Given the description of an element on the screen output the (x, y) to click on. 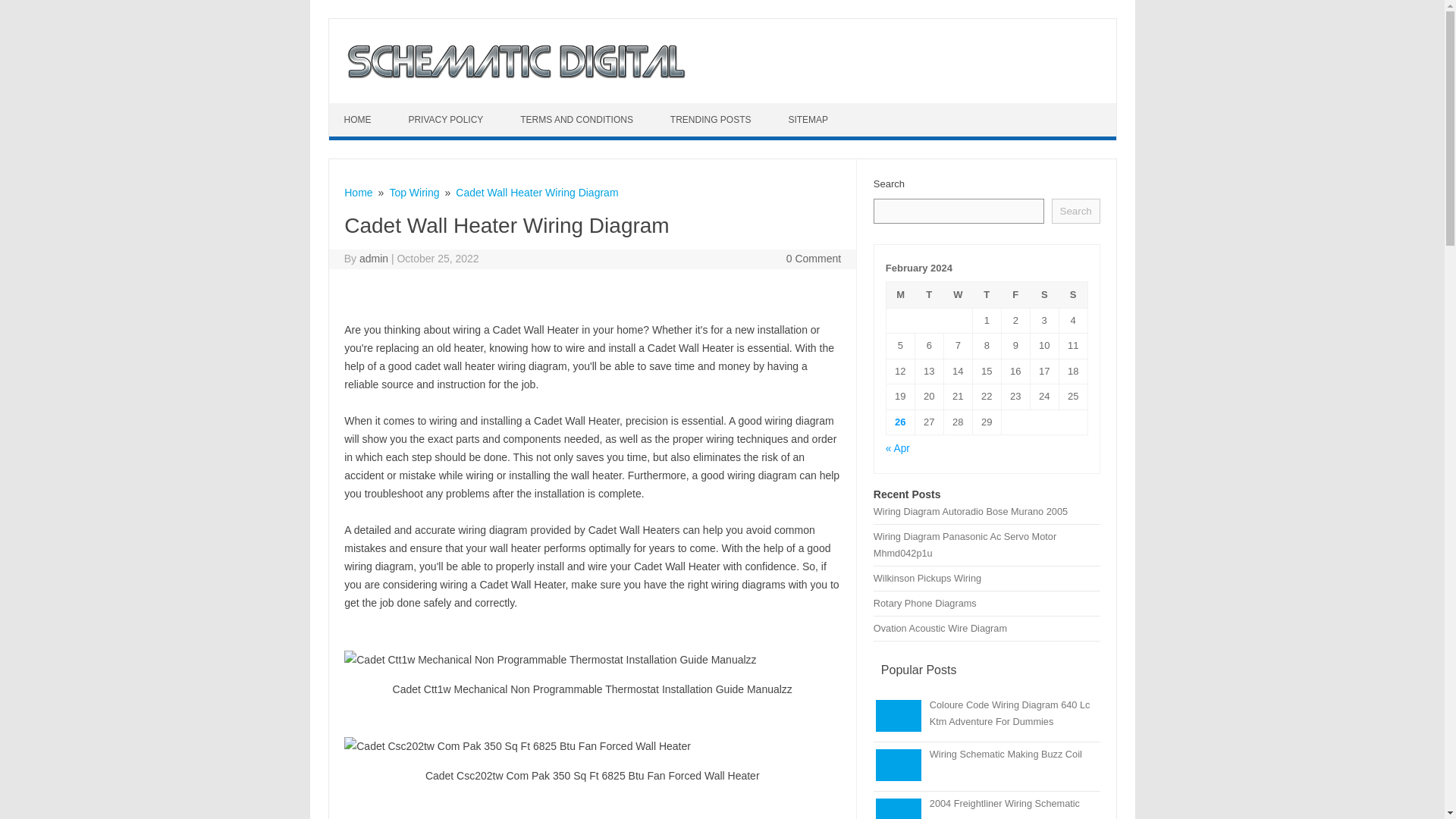
0 Comment (813, 258)
Home (357, 192)
Ovation Acoustic Wire Diagram (940, 627)
Coloure Code Wiring Diagram 640 Lc Ktm Adventure For Dummies (1010, 713)
SITEMAP (810, 119)
Skip to content (363, 108)
Posts by admin (373, 258)
TERMS AND CONDITIONS (578, 119)
HOME (359, 119)
Schema Digital (513, 77)
2004 Freightliner Wiring Schematic (1005, 803)
TRENDING POSTS (712, 119)
Search (1075, 211)
Rotary Phone Diagrams (924, 603)
